Given the description of an element on the screen output the (x, y) to click on. 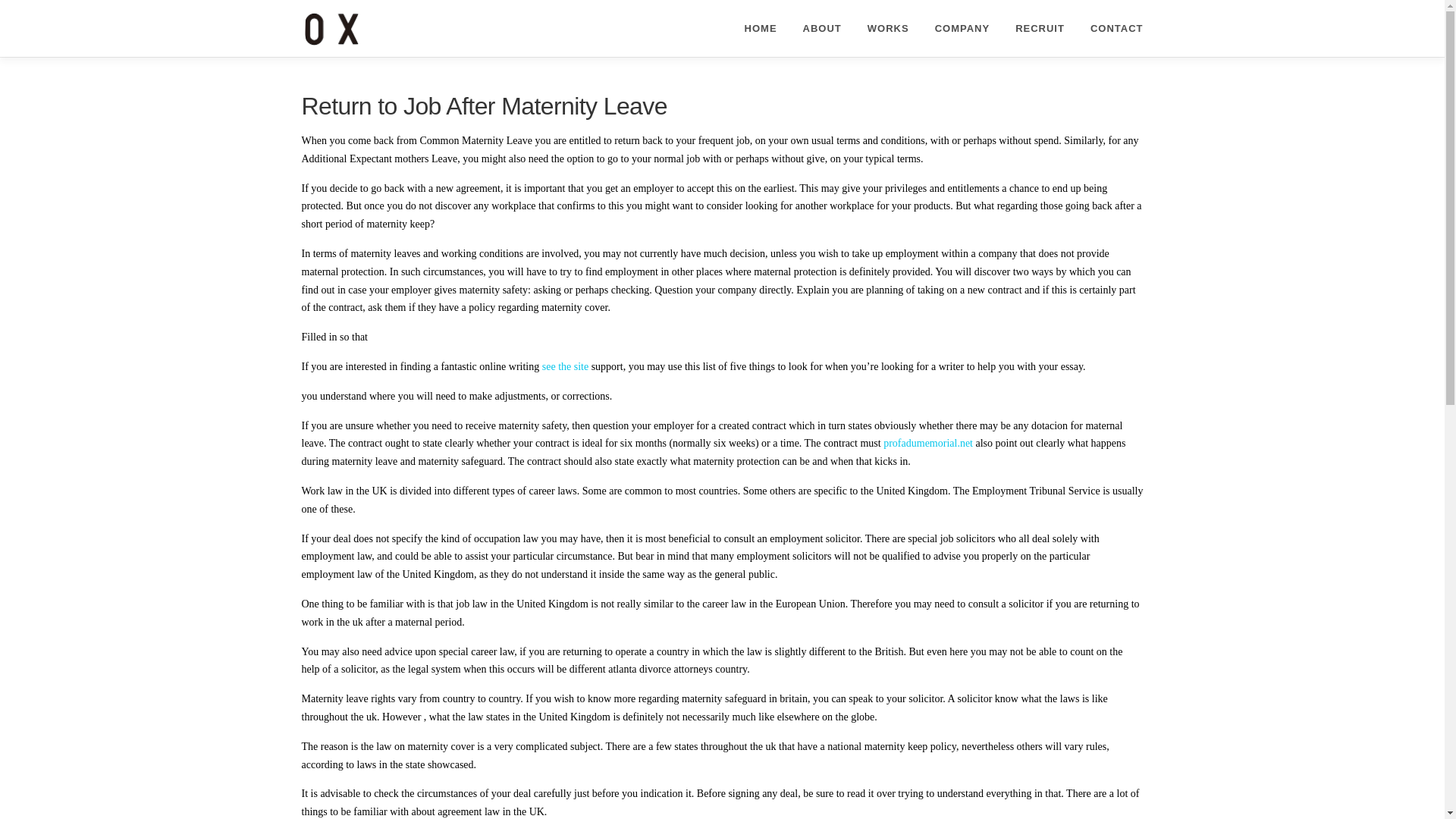
COMPANY (962, 28)
WORKS (887, 28)
see the site (564, 366)
profadumemorial.net (927, 442)
CONTACT (1109, 28)
RECRUIT (1040, 28)
ABOUT (822, 28)
HOME (761, 28)
